Given the description of an element on the screen output the (x, y) to click on. 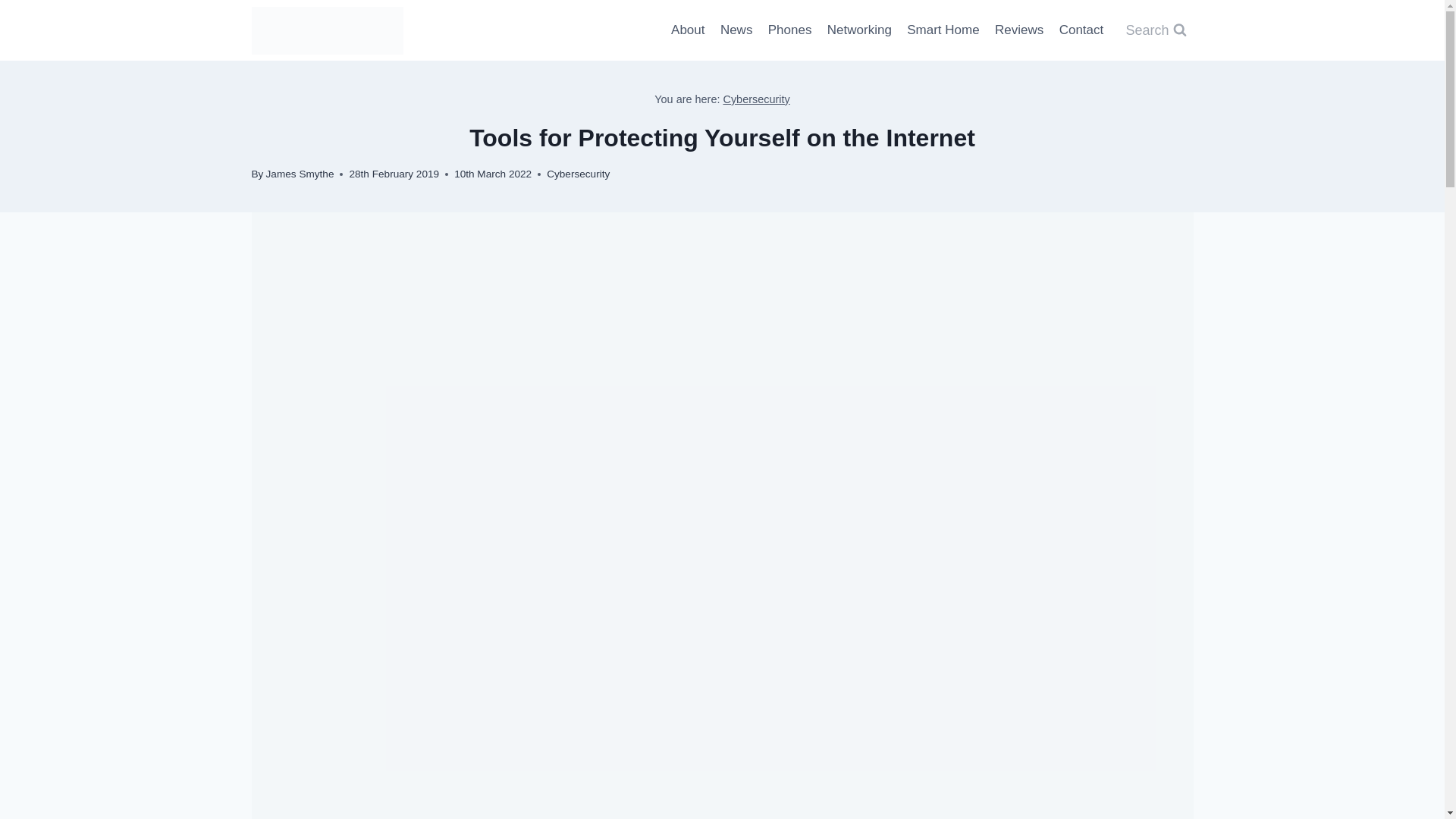
Cybersecurity (578, 173)
James Smythe (300, 173)
About (688, 30)
Cybersecurity (755, 99)
Smart Home (943, 30)
Reviews (1019, 30)
News (736, 30)
Contact (1080, 30)
Search (1155, 30)
